Given the description of an element on the screen output the (x, y) to click on. 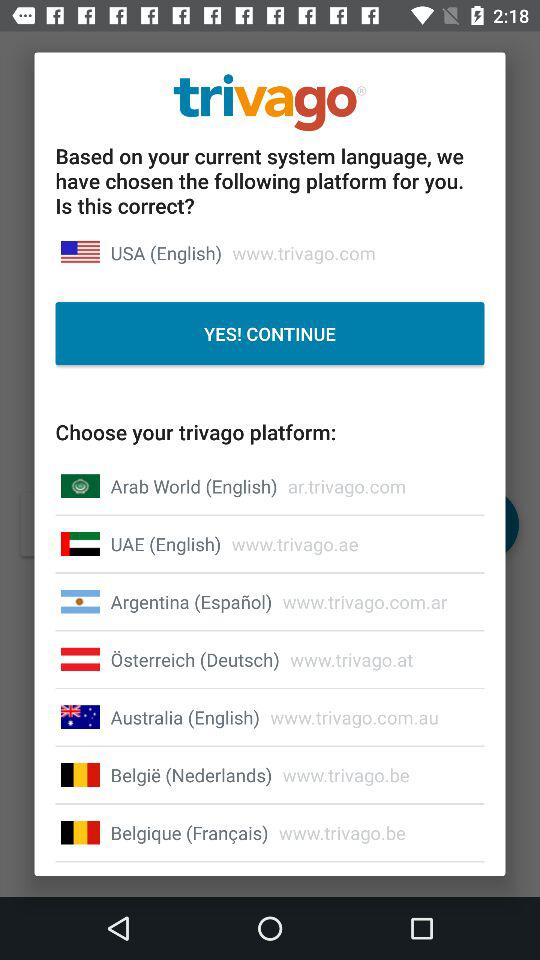
turn off the item to the left of www.trivago.at (194, 659)
